Given the description of an element on the screen output the (x, y) to click on. 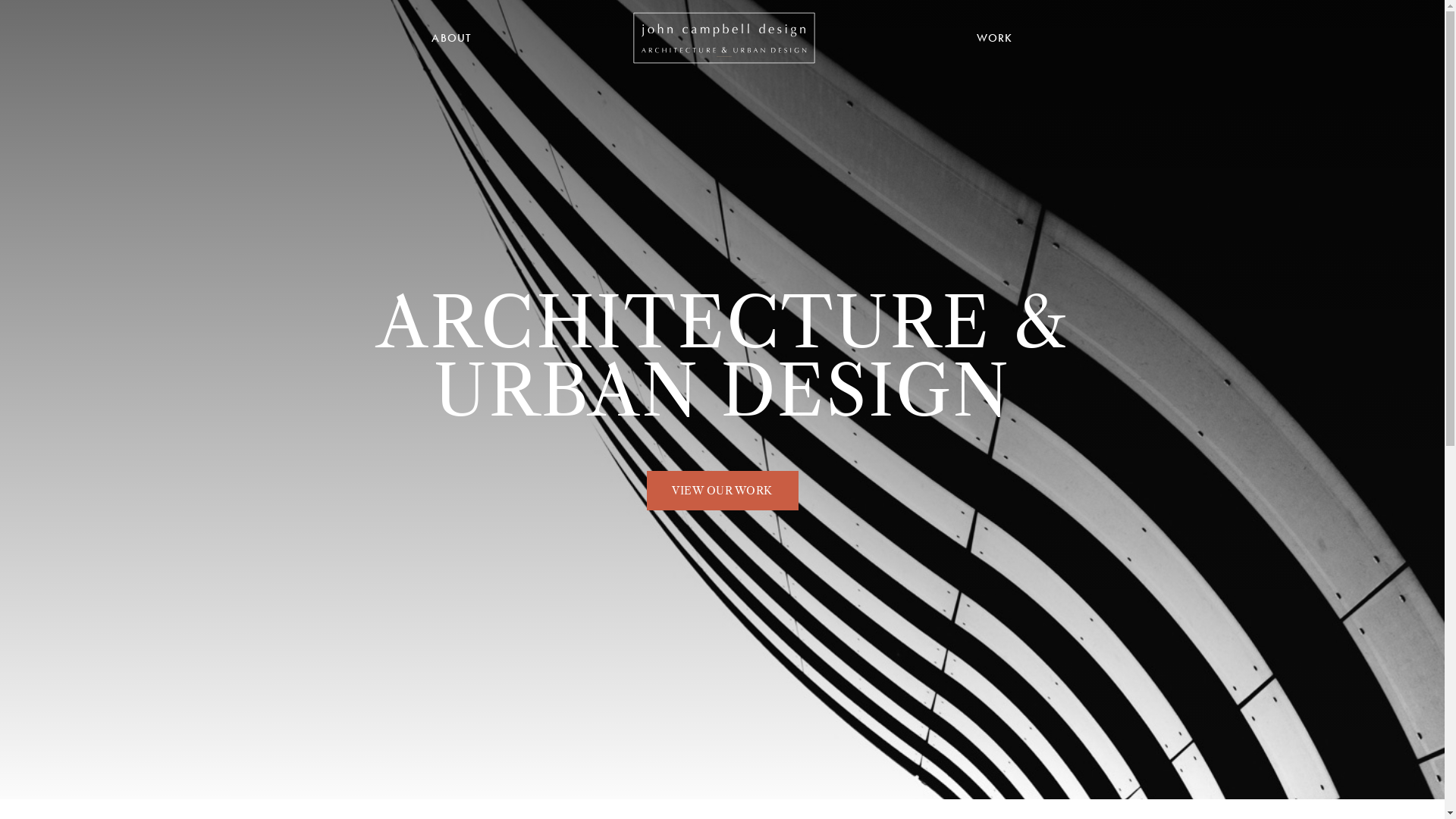
ABOUT Element type: text (451, 37)
VIEW OUR WORK Element type: text (721, 490)
WORK Element type: text (994, 37)
HOME Element type: text (724, 37)
